Given the description of an element on the screen output the (x, y) to click on. 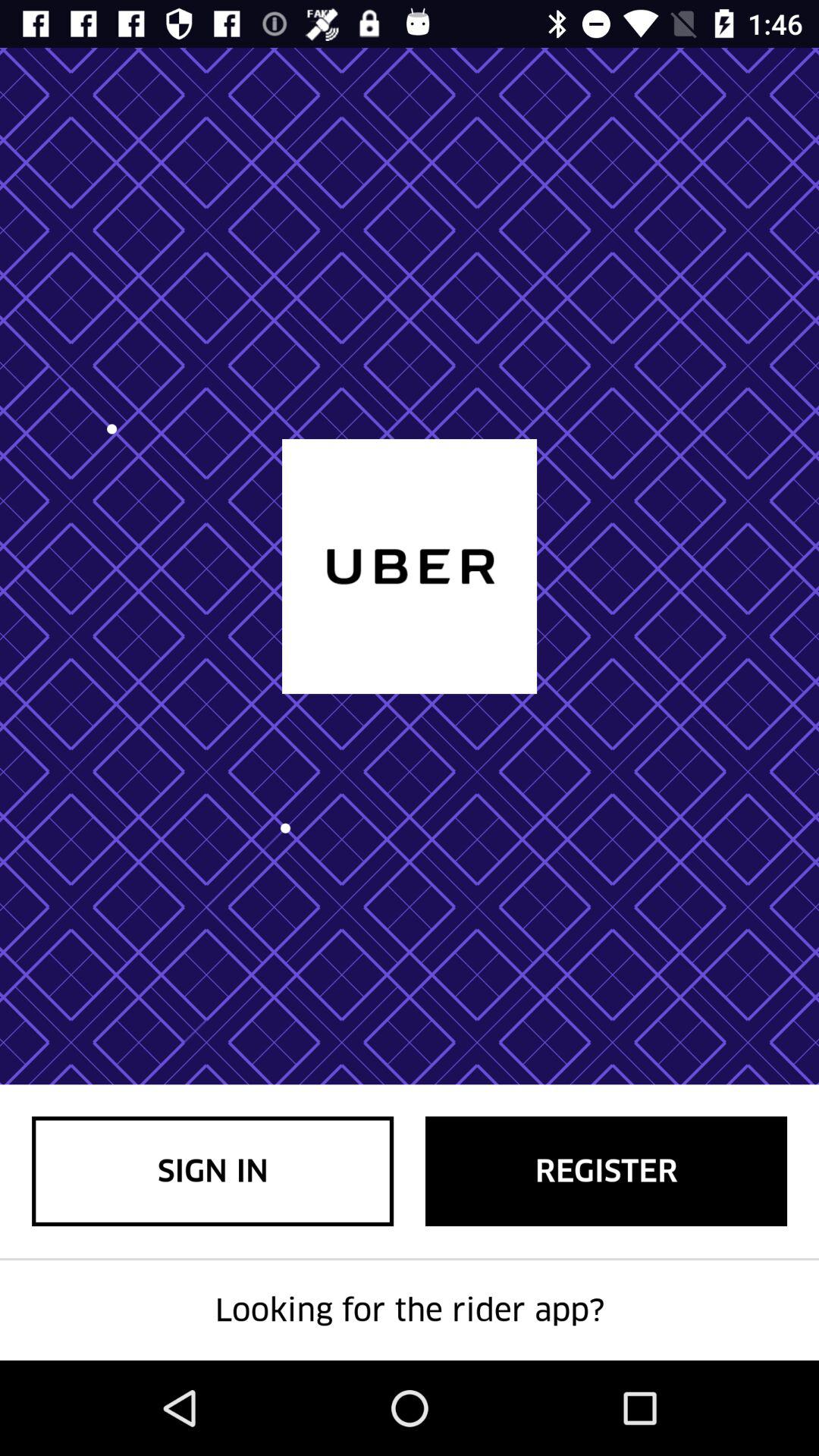
jump to the register (606, 1171)
